Given the description of an element on the screen output the (x, y) to click on. 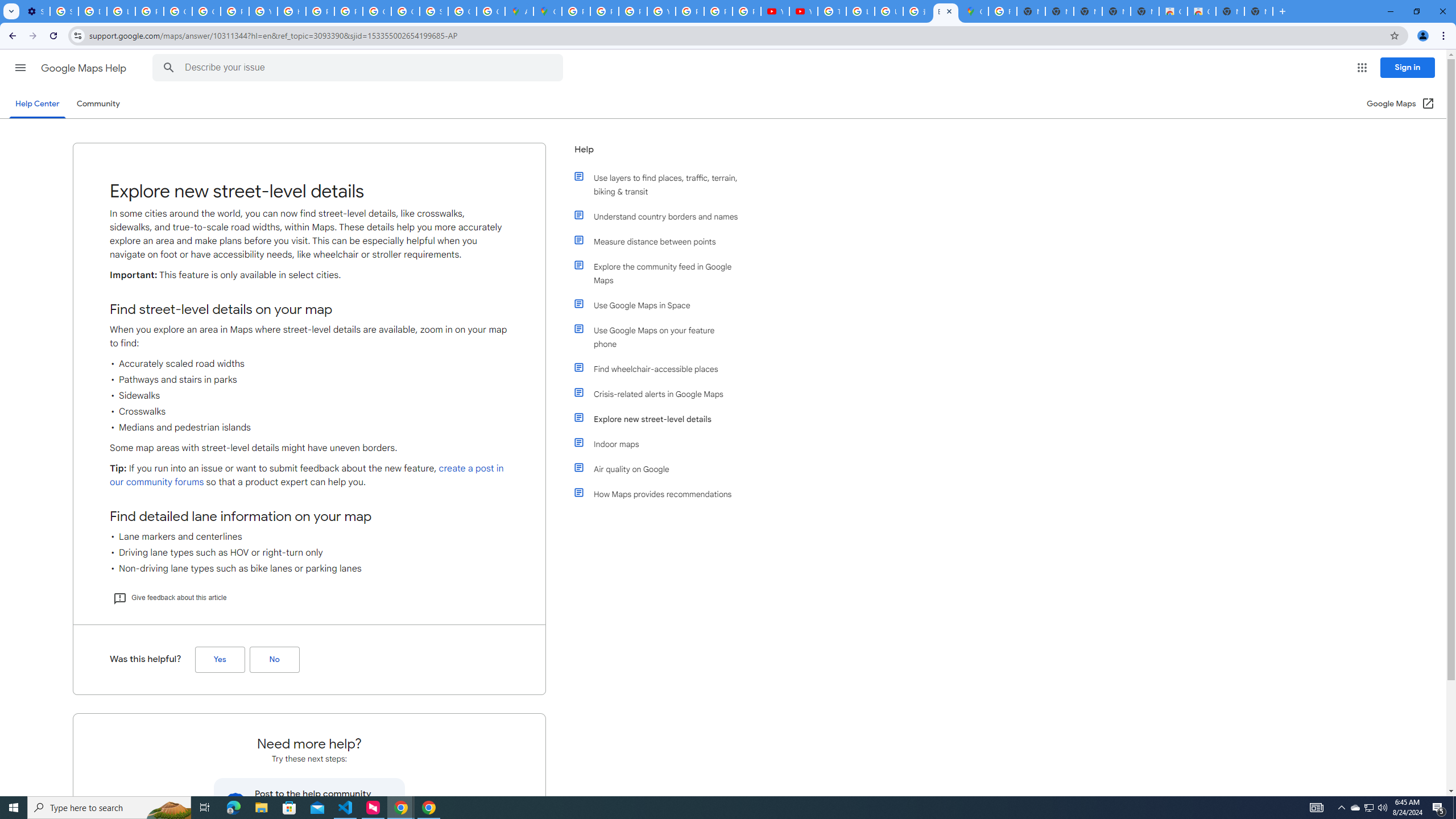
Policy Accountability and Transparency - Transparency Center (575, 11)
Help Center (36, 103)
No (Was this helpful?) (273, 660)
How Maps provides recommendations (661, 493)
Explore new street-level details - Google Maps Help (945, 11)
Yes (Was this helpful?) (219, 660)
Explore new street-level details (661, 419)
Privacy Help Center - Policies Help (320, 11)
Google Maps (973, 11)
